Given the description of an element on the screen output the (x, y) to click on. 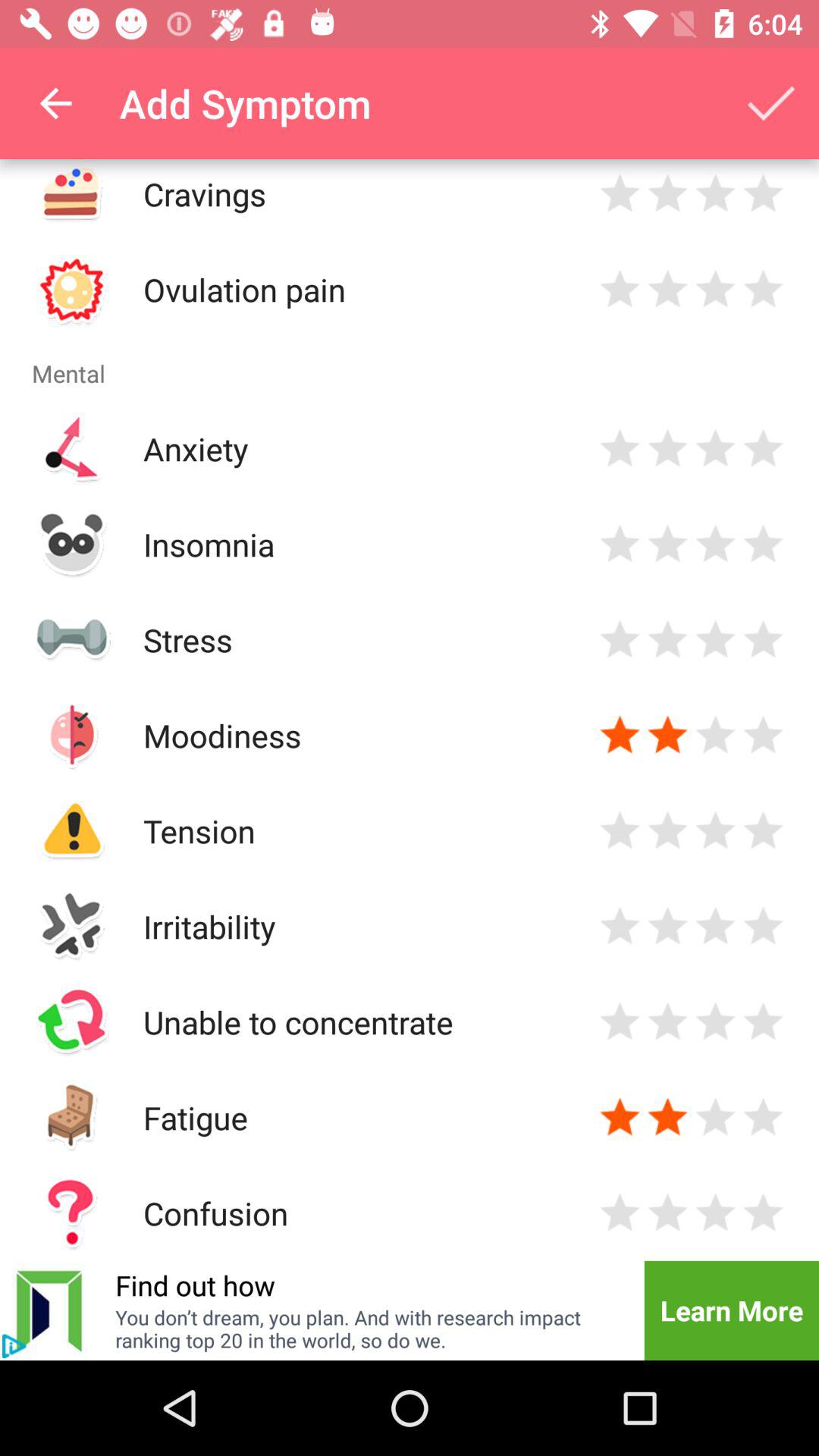
rates stress level at two stars (667, 639)
